Given the description of an element on the screen output the (x, y) to click on. 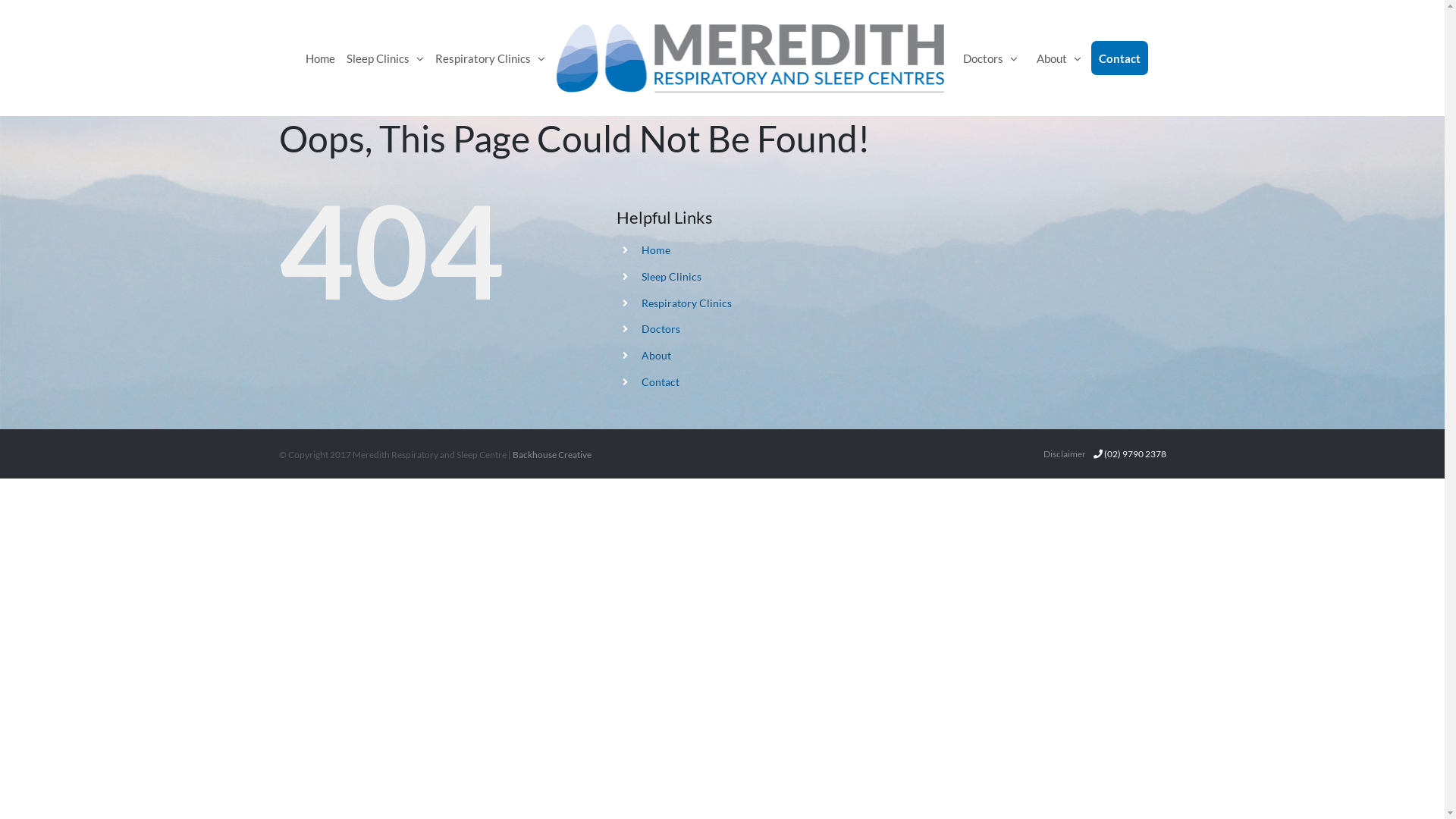
Doctors Element type: text (660, 328)
Sleep Clinics Element type: text (671, 275)
Home Element type: text (320, 57)
Contact Element type: text (660, 381)
Doctors Element type: text (990, 57)
Backhouse Creative Element type: text (551, 454)
Respiratory Clinics Element type: text (686, 302)
Home Element type: text (655, 249)
Respiratory Clinics Element type: text (490, 57)
About Element type: text (656, 354)
About Element type: text (1058, 57)
Sleep Clinics Element type: text (384, 57)
Disclaimer Element type: text (1064, 453)
Contact Element type: text (1119, 57)
